Given the description of an element on the screen output the (x, y) to click on. 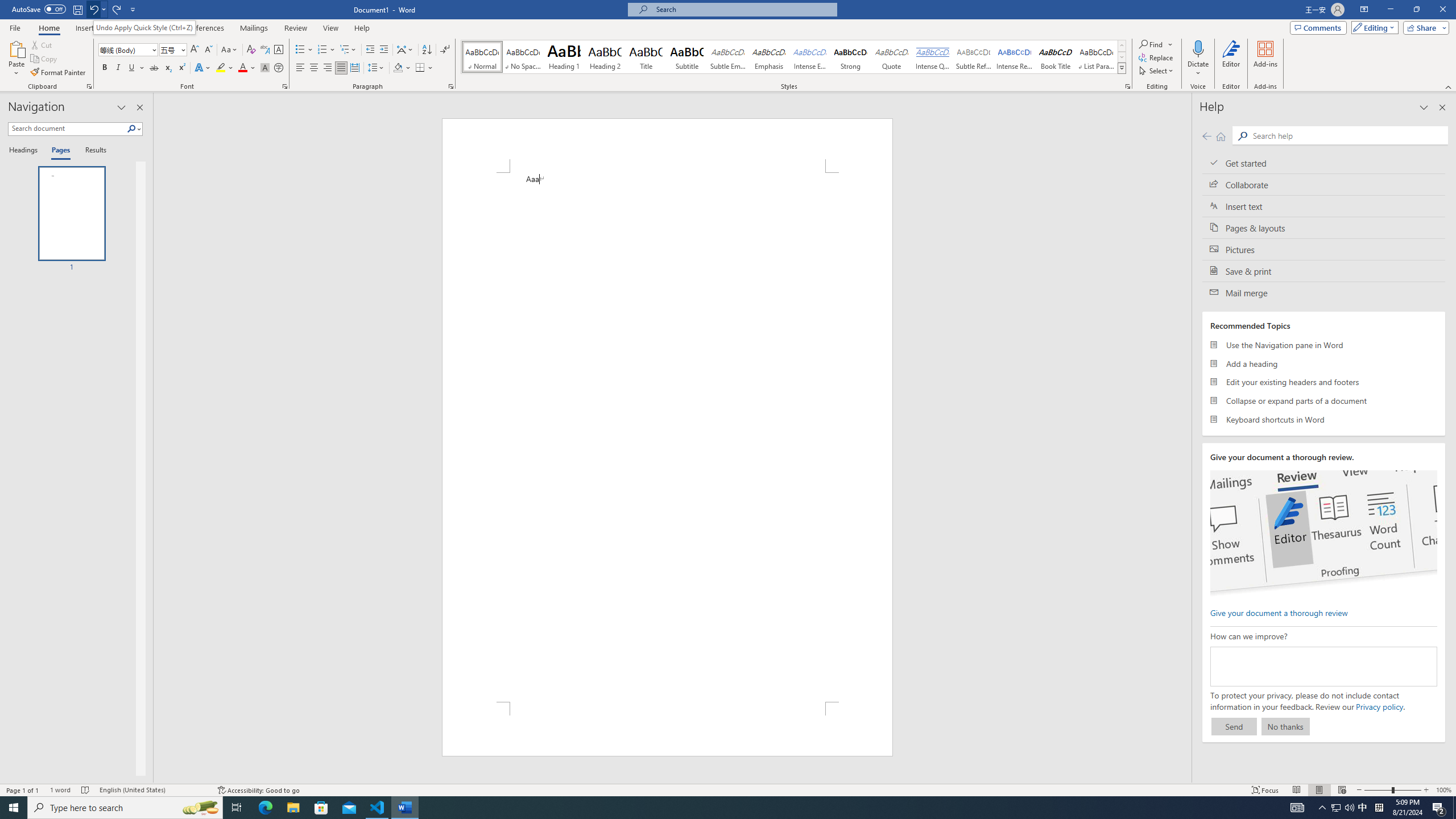
Clear Formatting (250, 49)
Center (313, 67)
Grow Font (193, 49)
Character Border (278, 49)
Office Clipboard... (88, 85)
Class: MsoCommandBar (728, 789)
Title (646, 56)
Give your document a thorough review (1278, 611)
Accessibility Checker Accessibility: Good to go (258, 790)
Text Highlight Color Yellow (220, 67)
Cut (42, 44)
Row up (1121, 45)
Bold (104, 67)
